Given the description of an element on the screen output the (x, y) to click on. 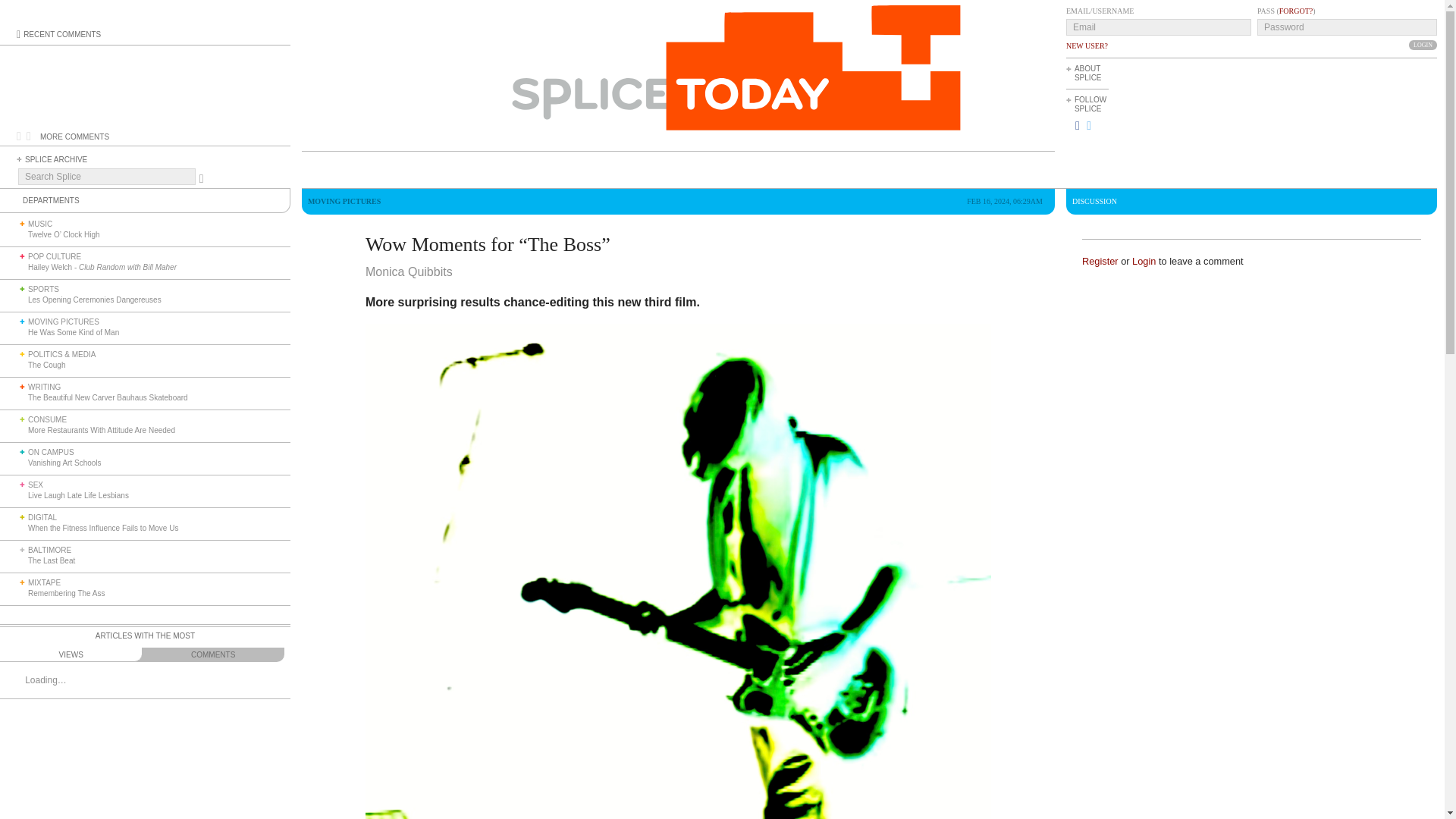
COMMENTS (212, 654)
BALTIMORE (49, 550)
CONSUME (46, 419)
The Beautiful New Carver Bauhaus Skateboard (107, 397)
VIEWS (70, 654)
Hailey Welch - Club Random with Bill Maher (101, 266)
Vanishing Art Schools (64, 462)
NEW USER? (1086, 45)
RECENT COMMENTS (61, 34)
He Was Some Kind of Man (73, 332)
SPORTS (43, 289)
Remembering The Ass (65, 592)
MORE COMMENTS (74, 136)
More Restaurants With Attitude Are Needed  (102, 429)
WRITING (44, 387)
